Given the description of an element on the screen output the (x, y) to click on. 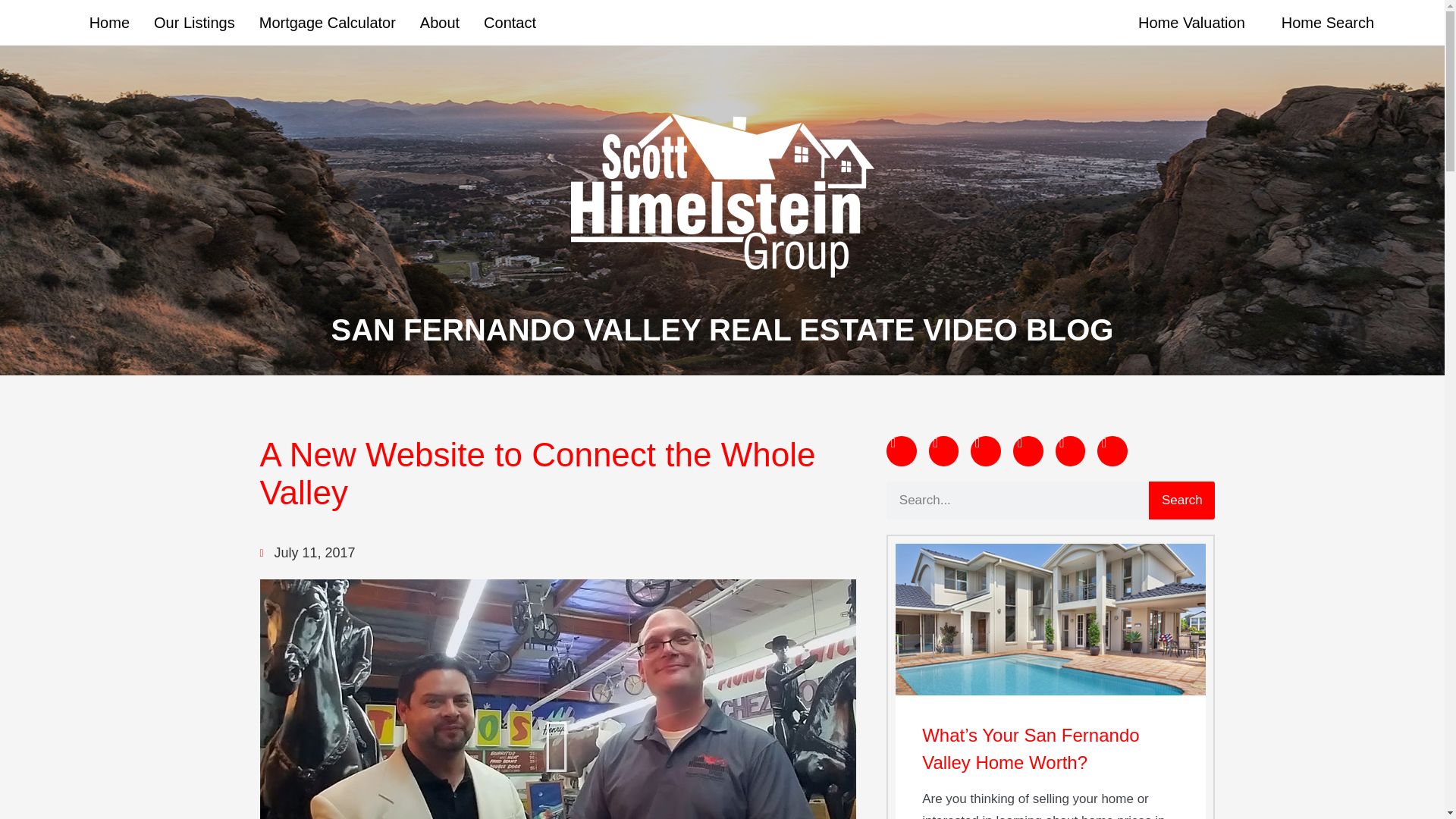
SAN FERNANDO VALLEY REAL ESTATE VIDEO BLOG (722, 329)
Home Search (1327, 21)
Home Valuation (1191, 21)
Contact (509, 21)
About (440, 21)
Home (108, 21)
Mortgage Calculator (327, 21)
Our Listings (194, 21)
July 11, 2017 (307, 553)
